Given the description of an element on the screen output the (x, y) to click on. 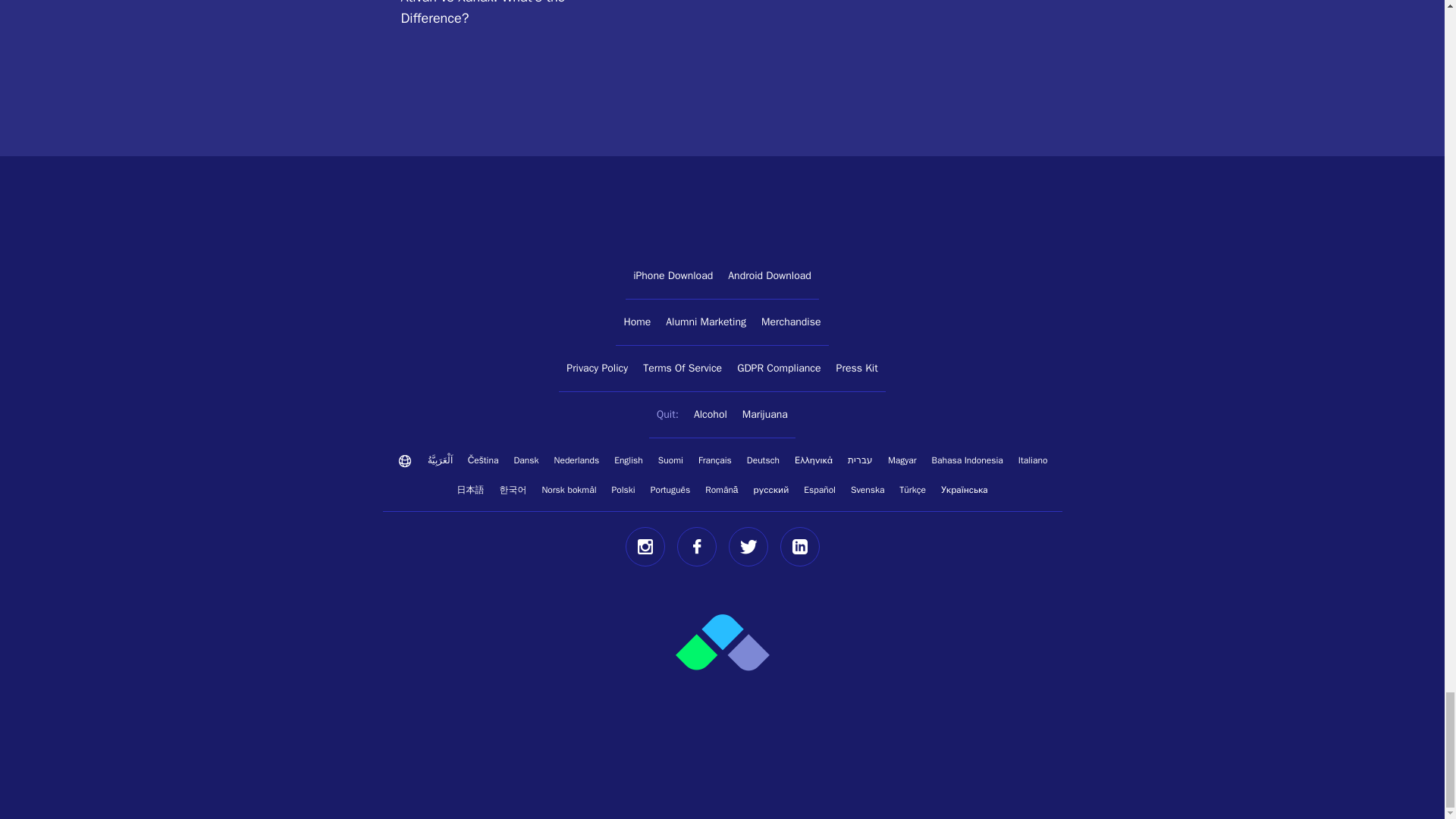
Privacy Policy (596, 368)
Alcohol (710, 414)
GDPR Compliance (778, 368)
Marijuana (764, 414)
Alumni Marketing (706, 322)
Suomi (670, 460)
iPhone Download (673, 276)
Dansk (525, 460)
Merchandise (791, 322)
Nederlands (577, 460)
English (628, 460)
Terms Of Service (681, 368)
Android Download (769, 276)
Home (636, 322)
Press Kit (856, 368)
